Given the description of an element on the screen output the (x, y) to click on. 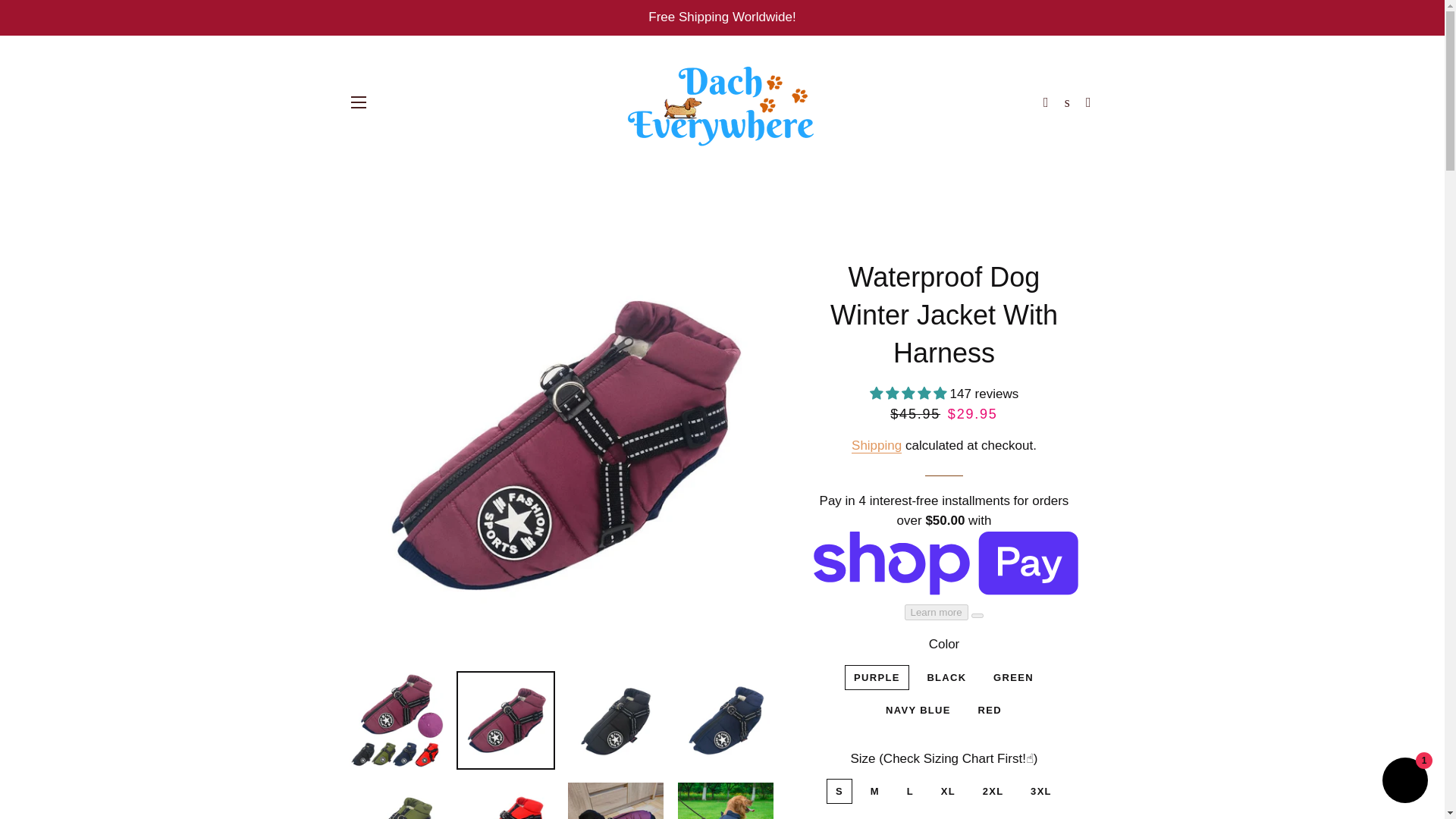
SEARCH (1066, 102)
CART (1088, 102)
LOG IN (1045, 102)
